Given the description of an element on the screen output the (x, y) to click on. 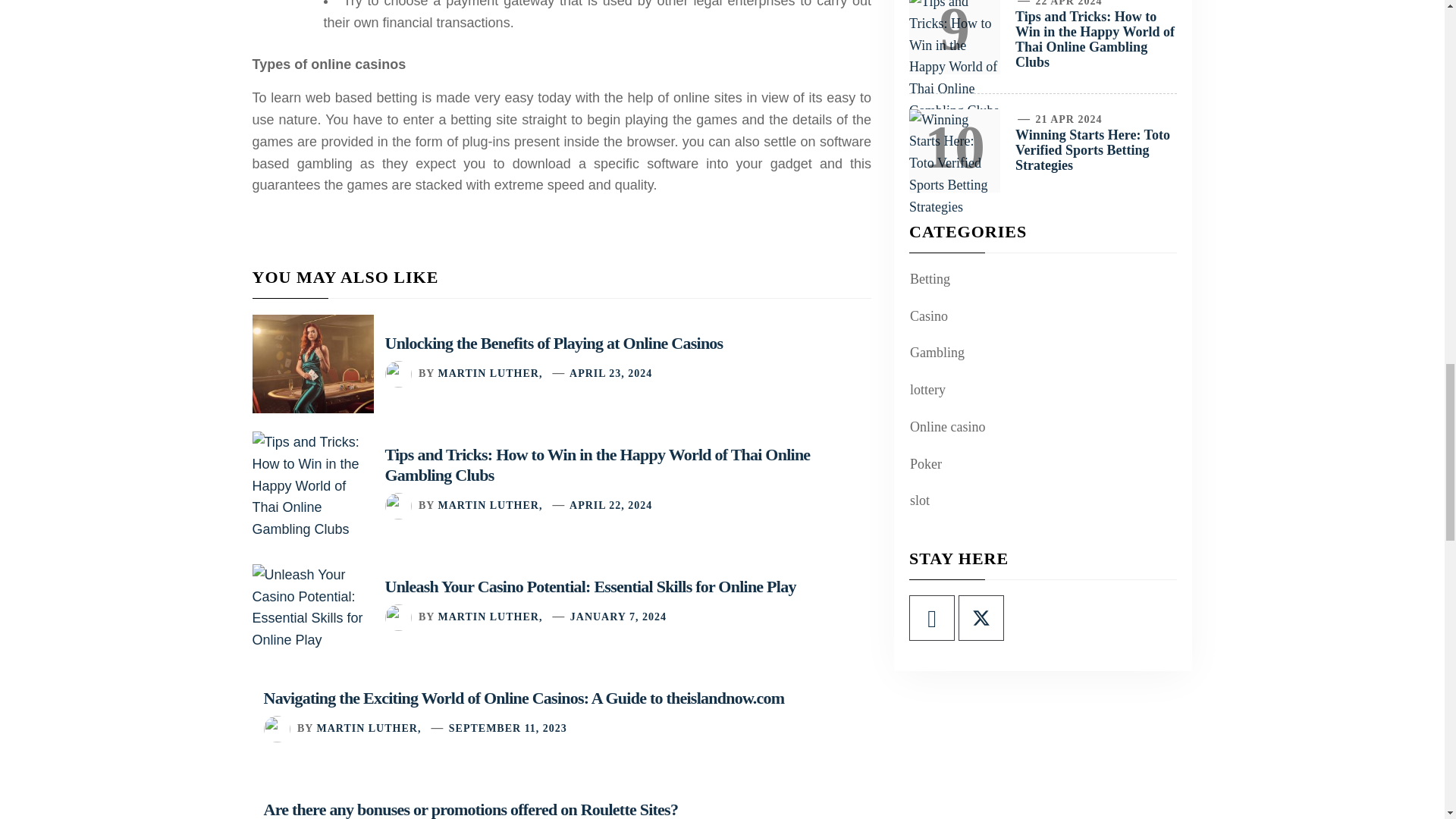
APRIL 23, 2024 (610, 373)
MARTIN LUTHER, (489, 505)
JANUARY 7, 2024 (618, 616)
APRIL 22, 2024 (610, 505)
MARTIN LUTHER, (489, 373)
MARTIN LUTHER, (489, 616)
MARTIN LUTHER, (367, 727)
SEPTEMBER 11, 2023 (507, 727)
Unlocking the Benefits of Playing at Online Casinos (554, 342)
